Given the description of an element on the screen output the (x, y) to click on. 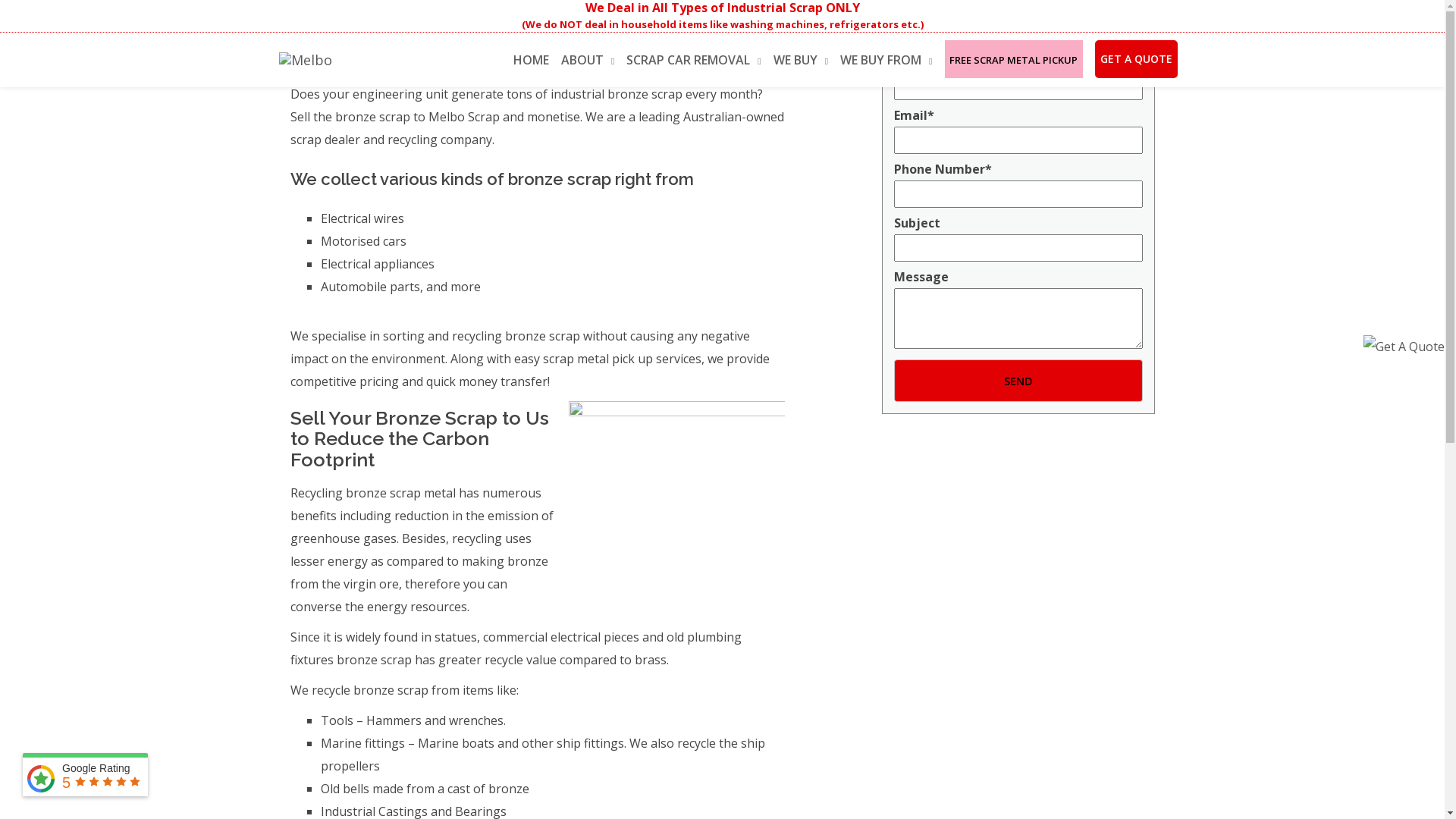
ABOUT Element type: text (587, 58)
FREE SCRAP METAL PICKUP Element type: text (1013, 57)
WE BUY Element type: text (800, 58)
SCRAP CAR REMOVAL Element type: text (693, 58)
WE BUY FROM Element type: text (885, 58)
Send Element type: text (1017, 380)
GET A QUOTE Element type: text (1136, 59)
HOME Element type: text (531, 57)
